Given the description of an element on the screen output the (x, y) to click on. 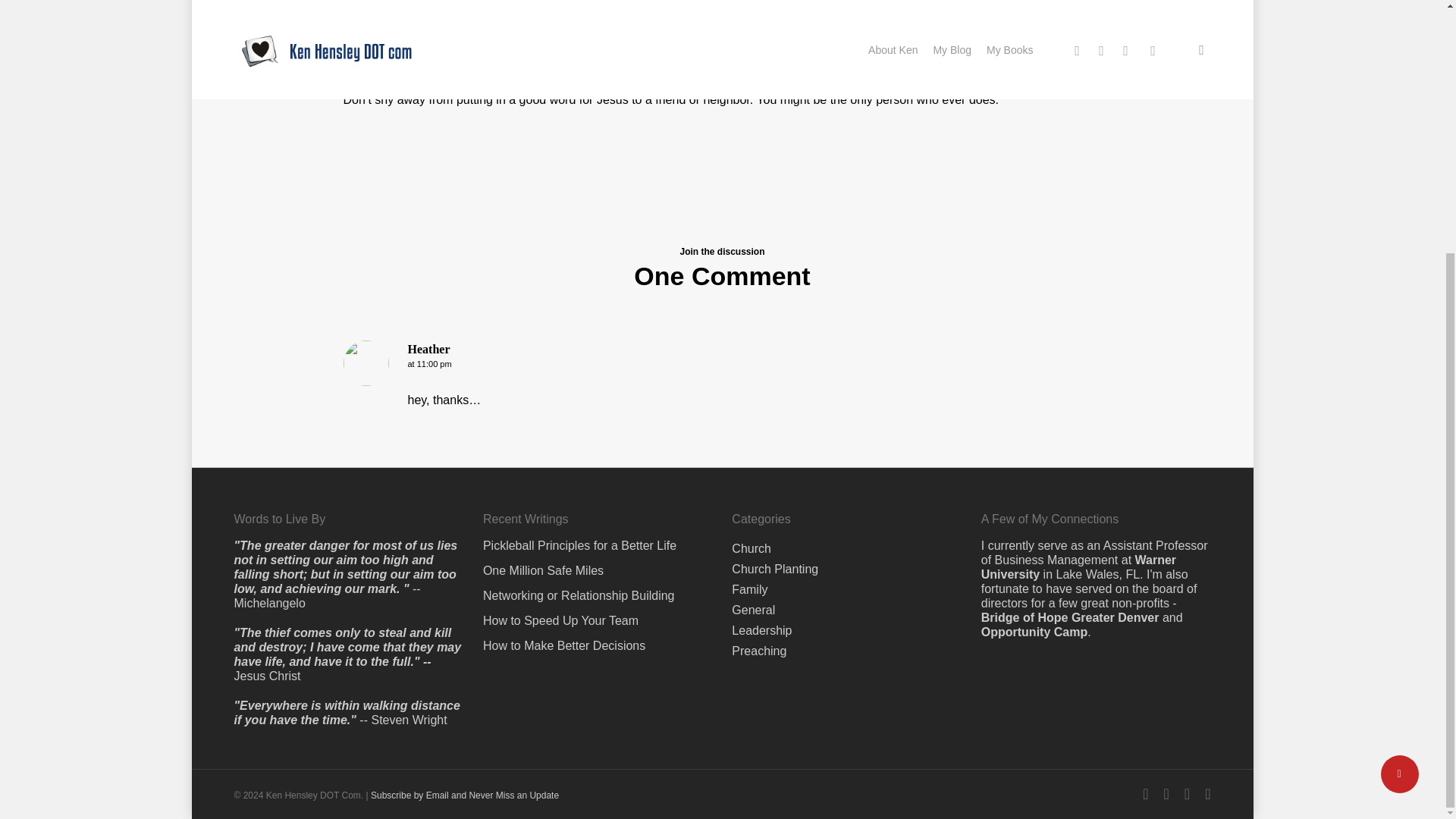
Subscribe by Email and Never Miss an Update (465, 438)
Church (751, 191)
Preaching (759, 293)
Pickleball Principles for a Better Life (598, 187)
Leadership (762, 273)
Networking or Relationship Building (598, 237)
at 11:00 pm (429, 363)
Bridge of Hope Greater Denver (1069, 259)
One Million Safe Miles (598, 213)
How to Speed Up Your Team (598, 263)
Opportunity Camp (1034, 274)
Church Planting (775, 211)
General (753, 252)
How to Make Better Decisions (598, 288)
Warner University (1078, 209)
